Given the description of an element on the screen output the (x, y) to click on. 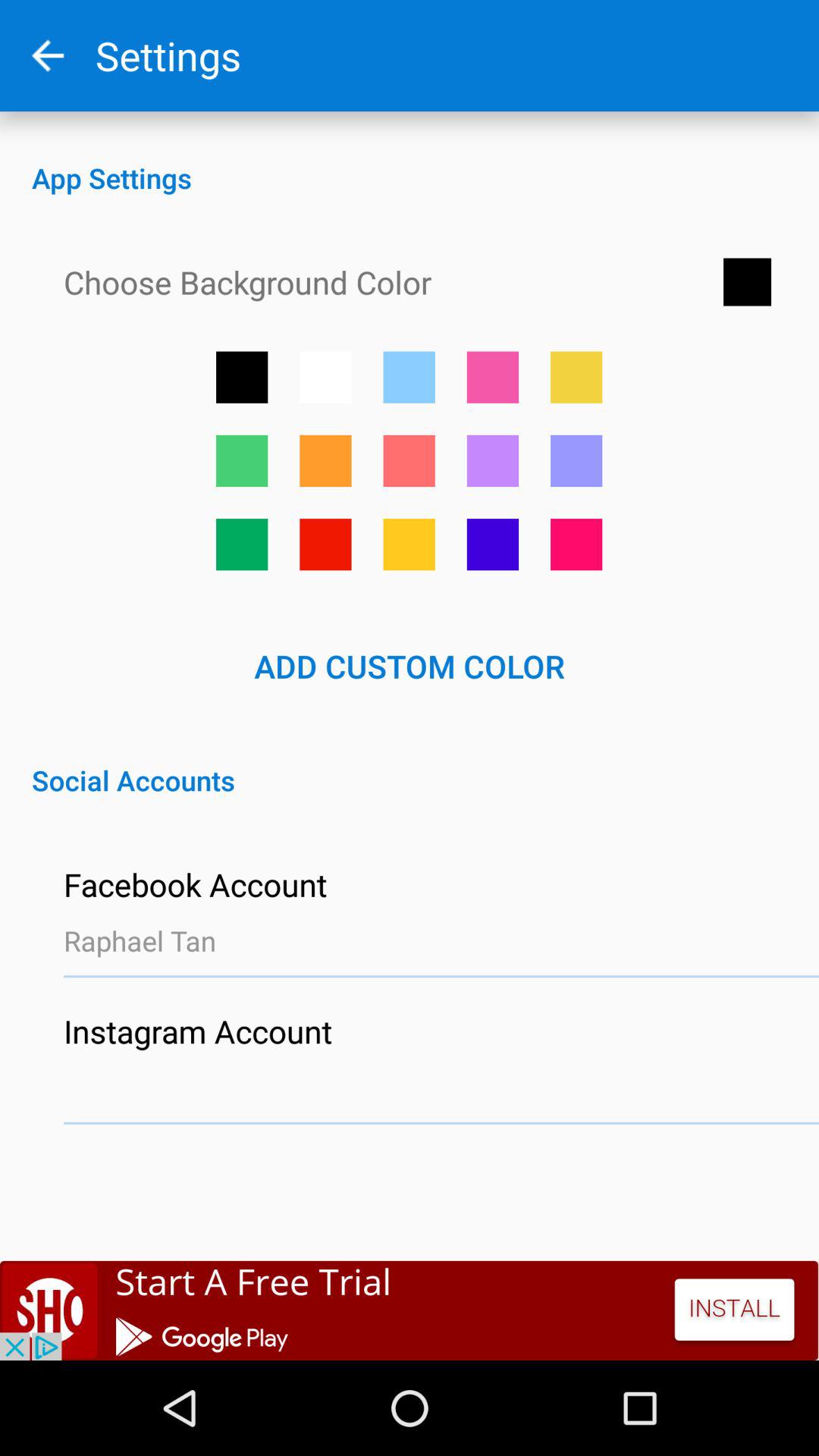
choose background color (576, 544)
